Given the description of an element on the screen output the (x, y) to click on. 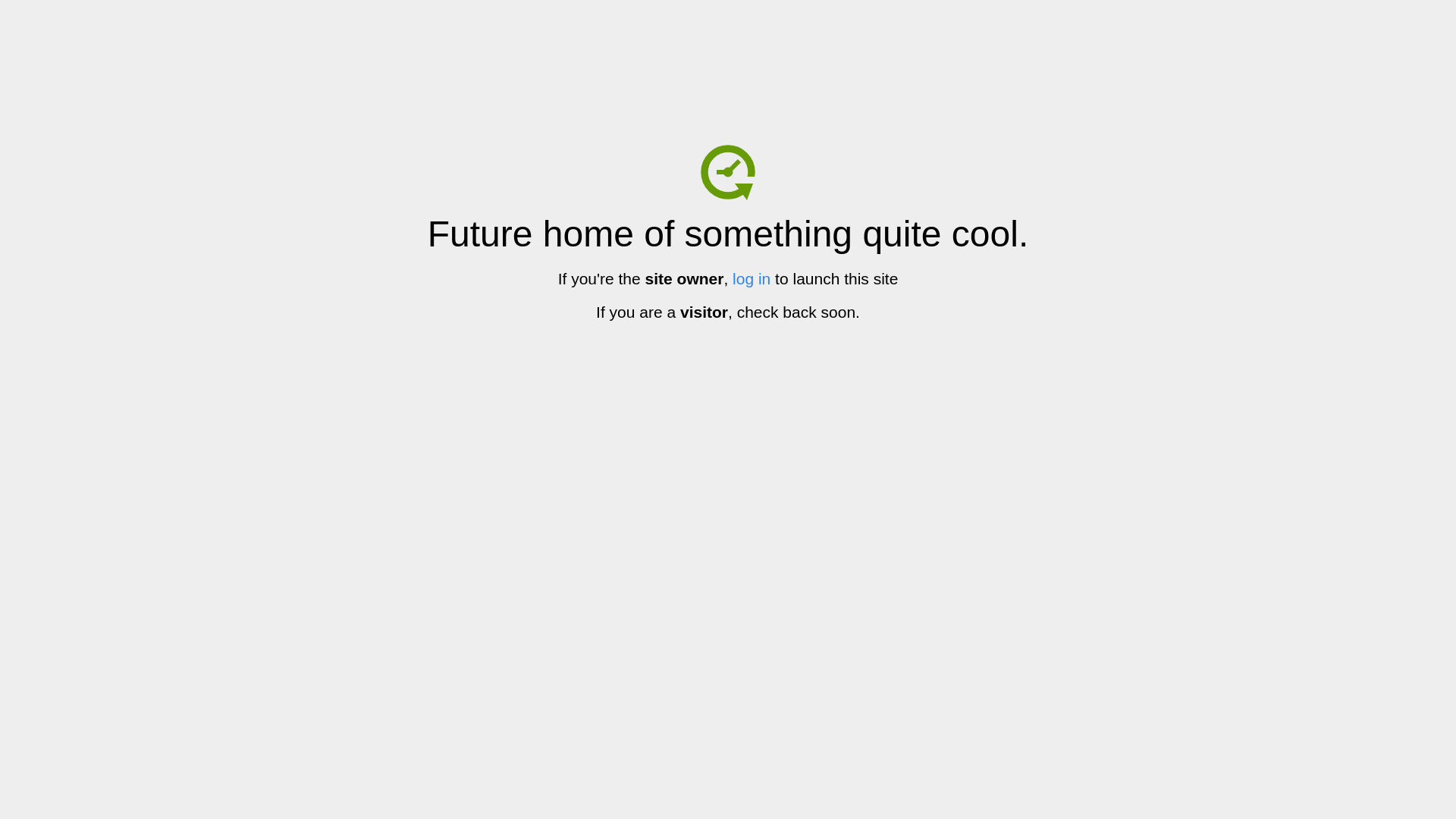
log in Element type: text (751, 278)
